Given the description of an element on the screen output the (x, y) to click on. 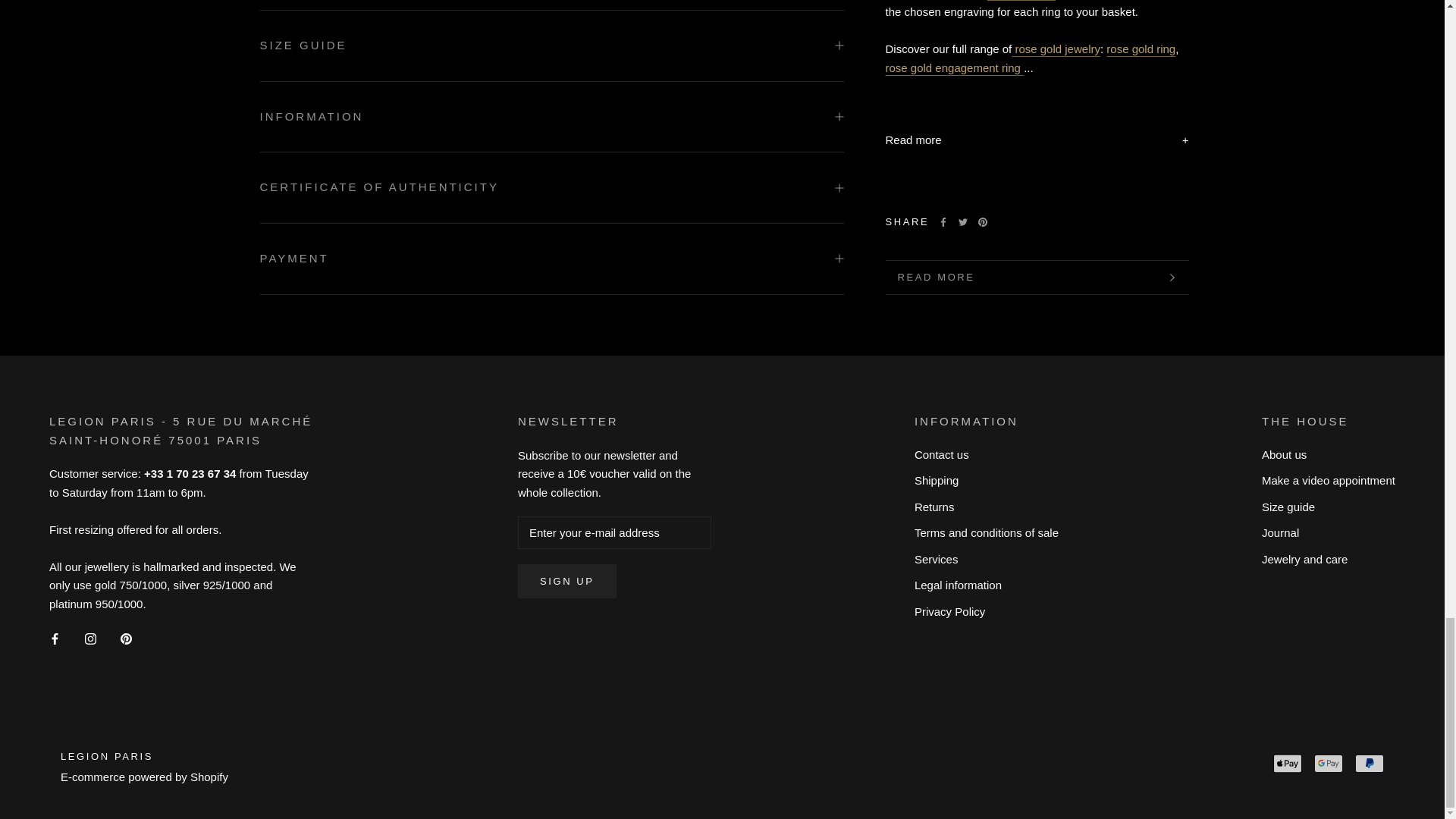
Google Pay (1328, 763)
PayPal (1369, 763)
Apple Pay (1286, 763)
